Given the description of an element on the screen output the (x, y) to click on. 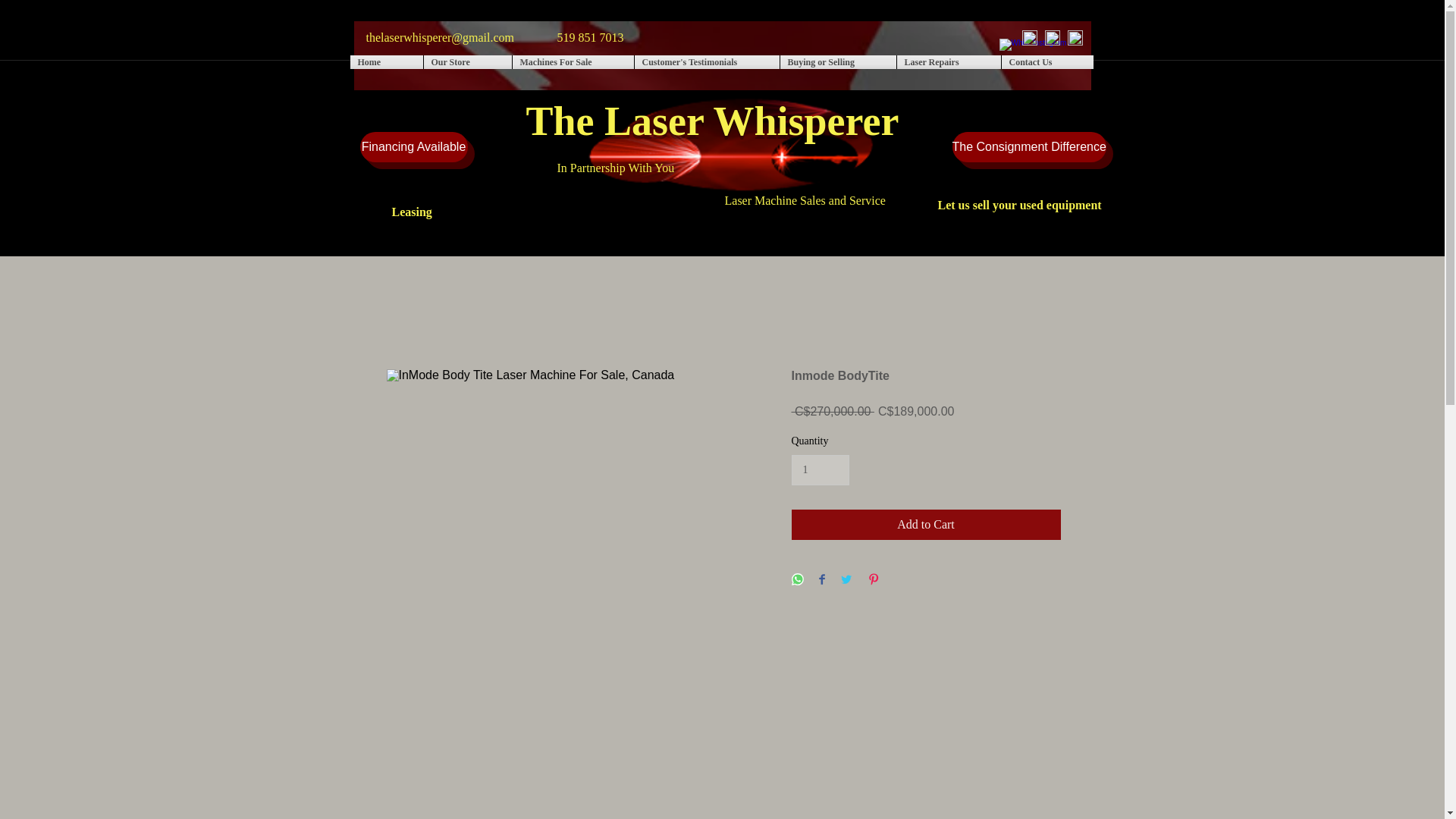
Contact Us (1047, 61)
The Consignment Difference (1029, 146)
Machines For Sale (572, 61)
Add to Cart (926, 524)
Buying or Selling (836, 61)
Laser Repairs (948, 61)
In Parnership With You (733, 144)
1 (820, 470)
Financing Available (413, 146)
Customer's Testimonials (705, 61)
Home (386, 61)
